Given the description of an element on the screen output the (x, y) to click on. 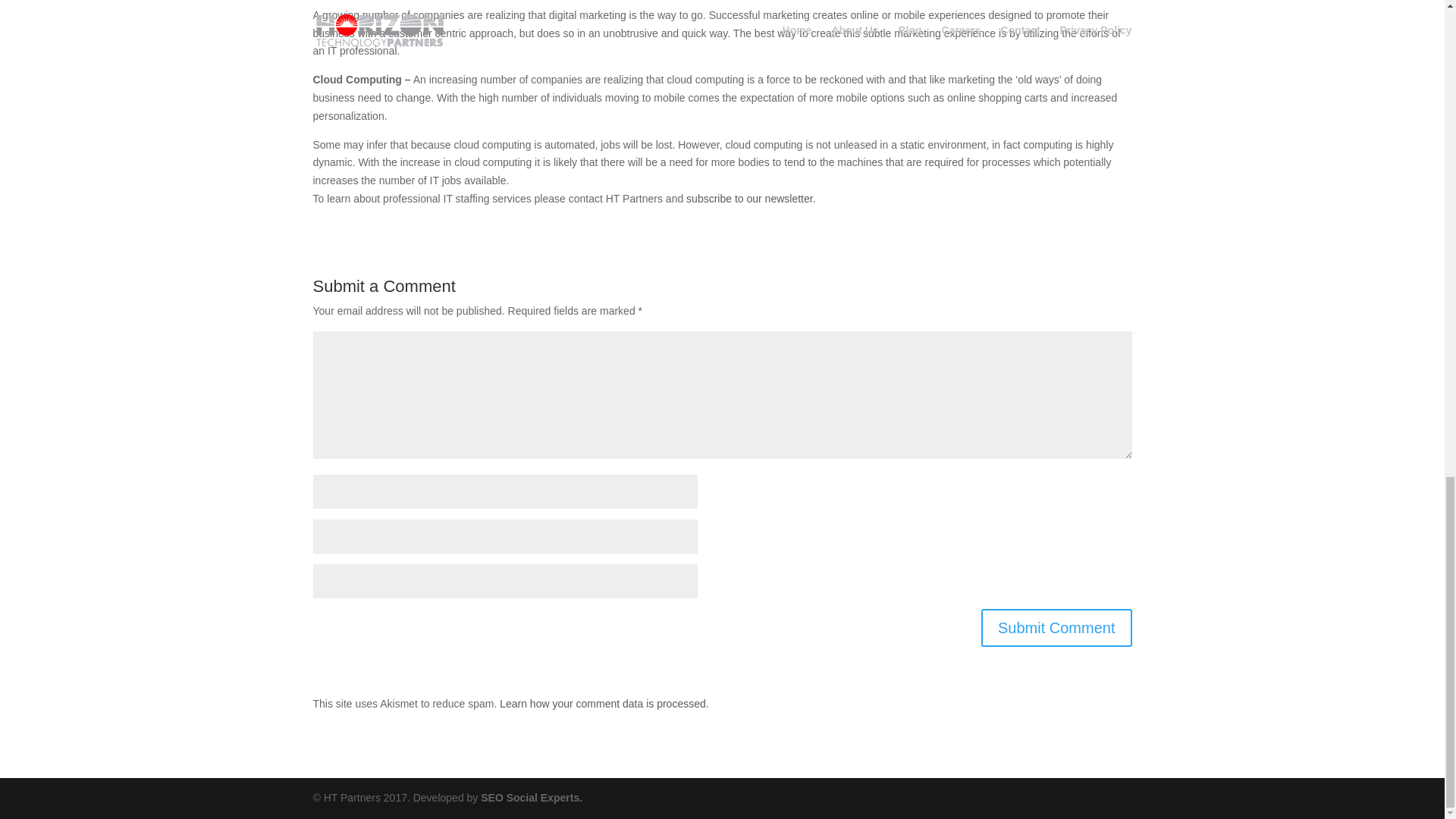
SEO Social Experts. (531, 797)
Submit Comment (1056, 628)
Learn how your comment data is processed (602, 703)
subscribe to our newsletter. (750, 198)
Submit Comment (1056, 628)
